Given the description of an element on the screen output the (x, y) to click on. 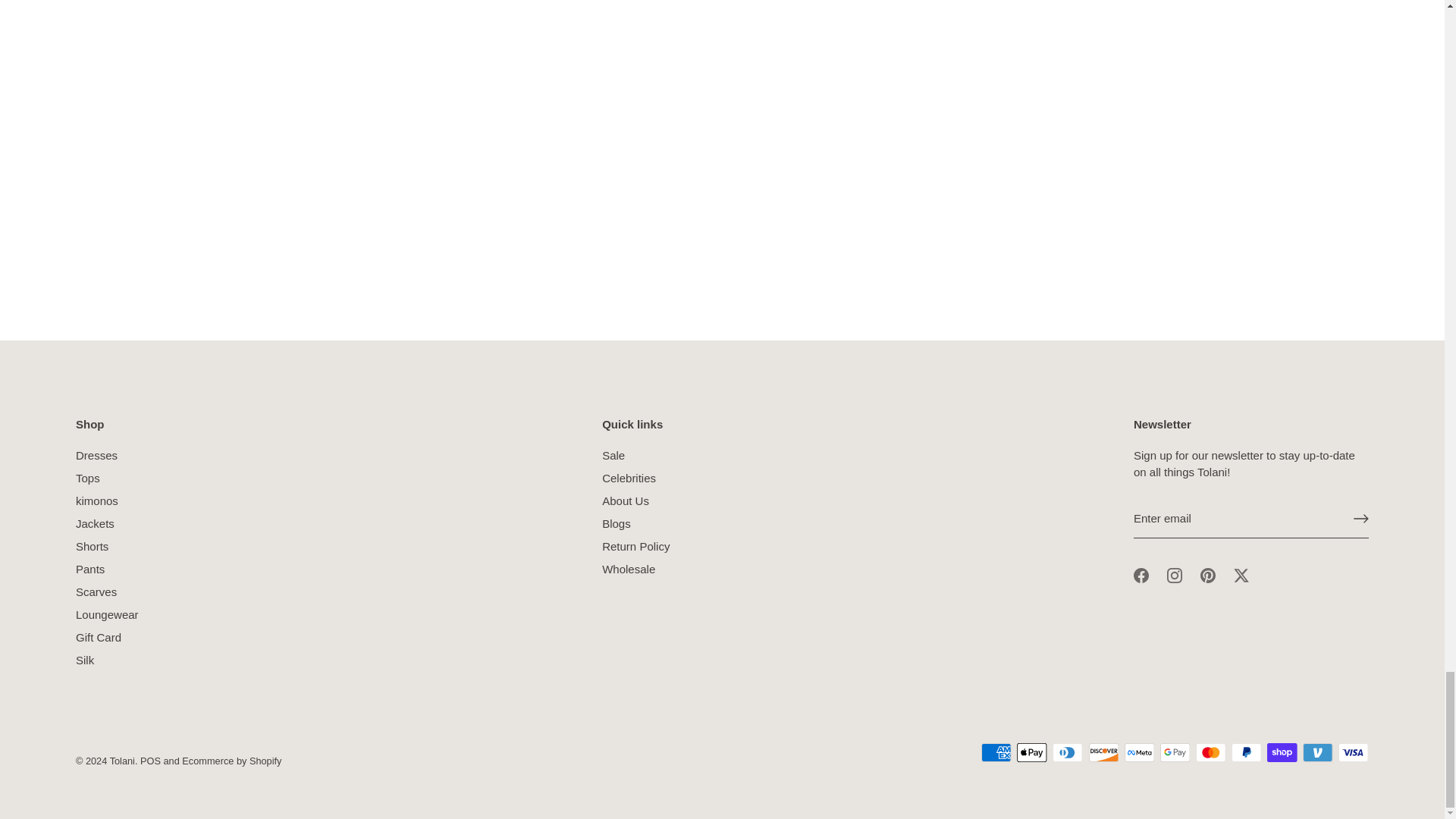
Mastercard (1210, 752)
RIGHT ARROW LONG (1361, 518)
American Express (996, 752)
Google Pay (1174, 752)
Shop Pay (1281, 752)
Instagram (1174, 575)
Discover (1104, 752)
Meta Pay (1139, 752)
Visa (1353, 752)
Pinterest (1207, 575)
PayPal (1245, 752)
Diners Club (1067, 752)
Apple Pay (1031, 752)
Venmo (1317, 752)
